Given the description of an element on the screen output the (x, y) to click on. 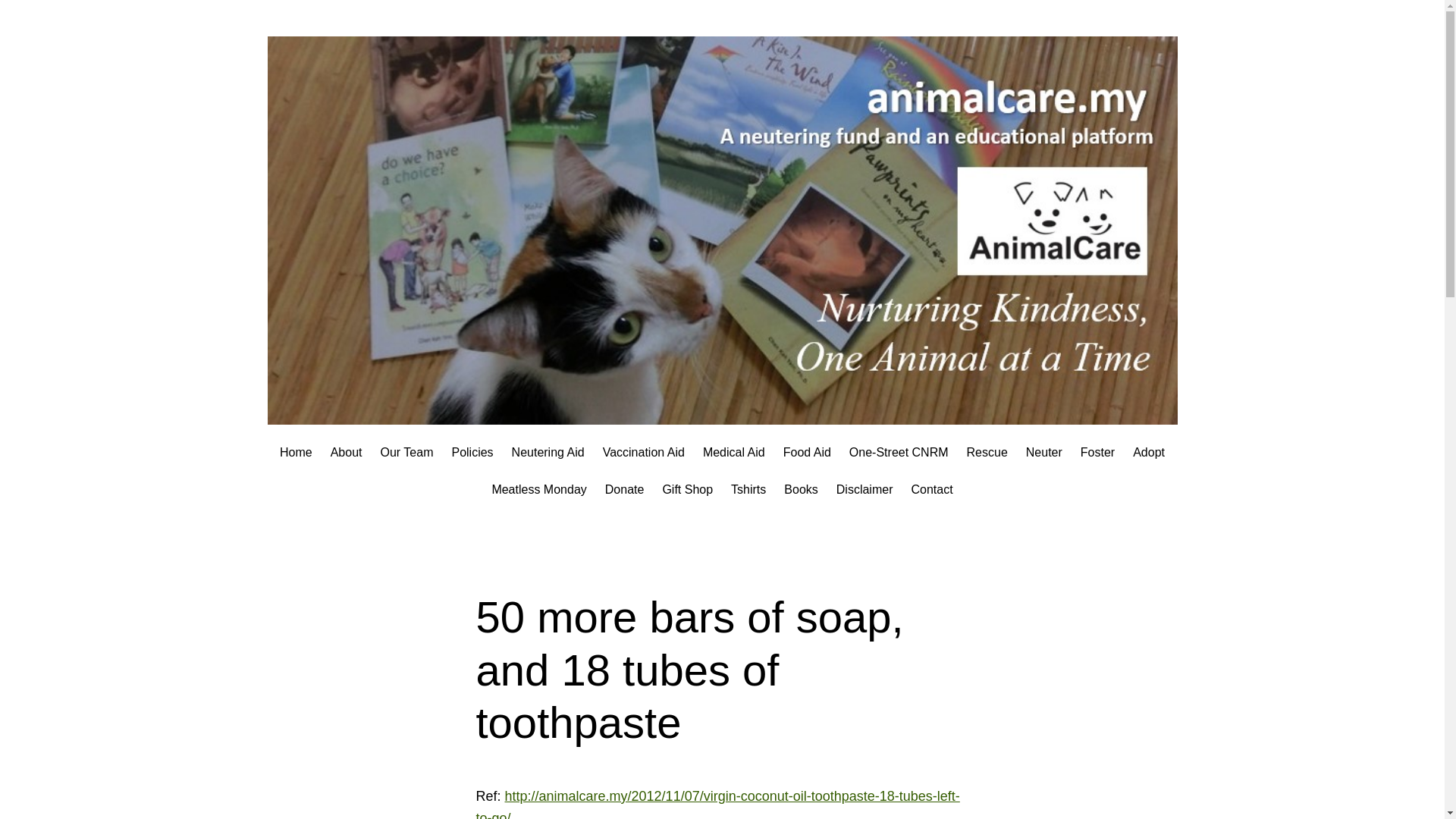
Donate (625, 489)
Food Aid (807, 452)
Medical Aid (734, 452)
Vaccination Aid (643, 452)
Contact (931, 489)
Policies (472, 452)
One-Street CNRM (898, 452)
Our Team (406, 452)
Neutering Aid (548, 452)
Rescue (986, 452)
Meatless Monday (539, 489)
Neuter (1044, 452)
Gift Shop (687, 489)
Adopt (1148, 452)
Books (800, 489)
